Given the description of an element on the screen output the (x, y) to click on. 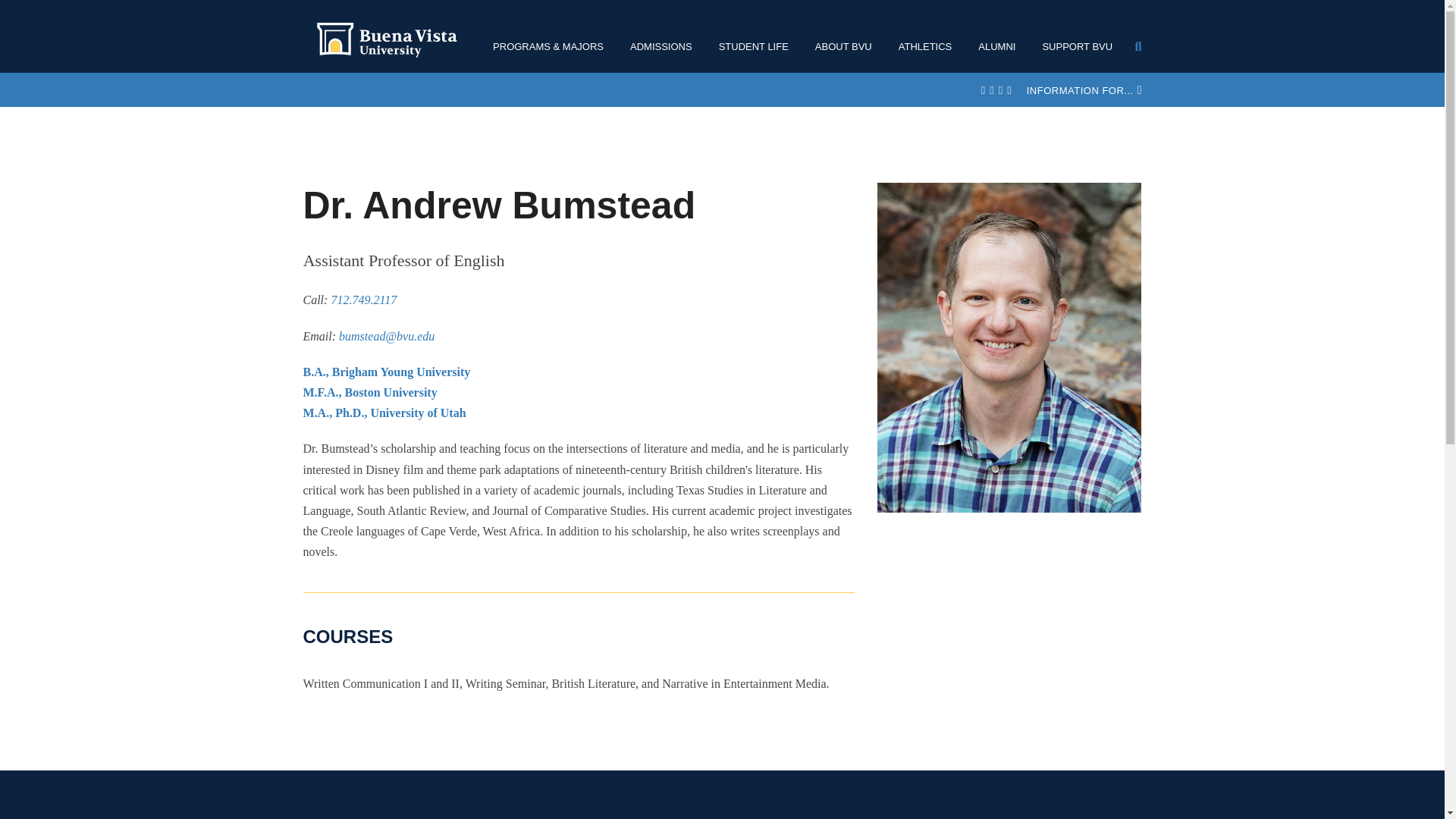
ATHLETICS (931, 46)
ABOUT BVU (849, 46)
STUDENT LIFE (759, 46)
ADMISSIONS (667, 46)
